Given the description of an element on the screen output the (x, y) to click on. 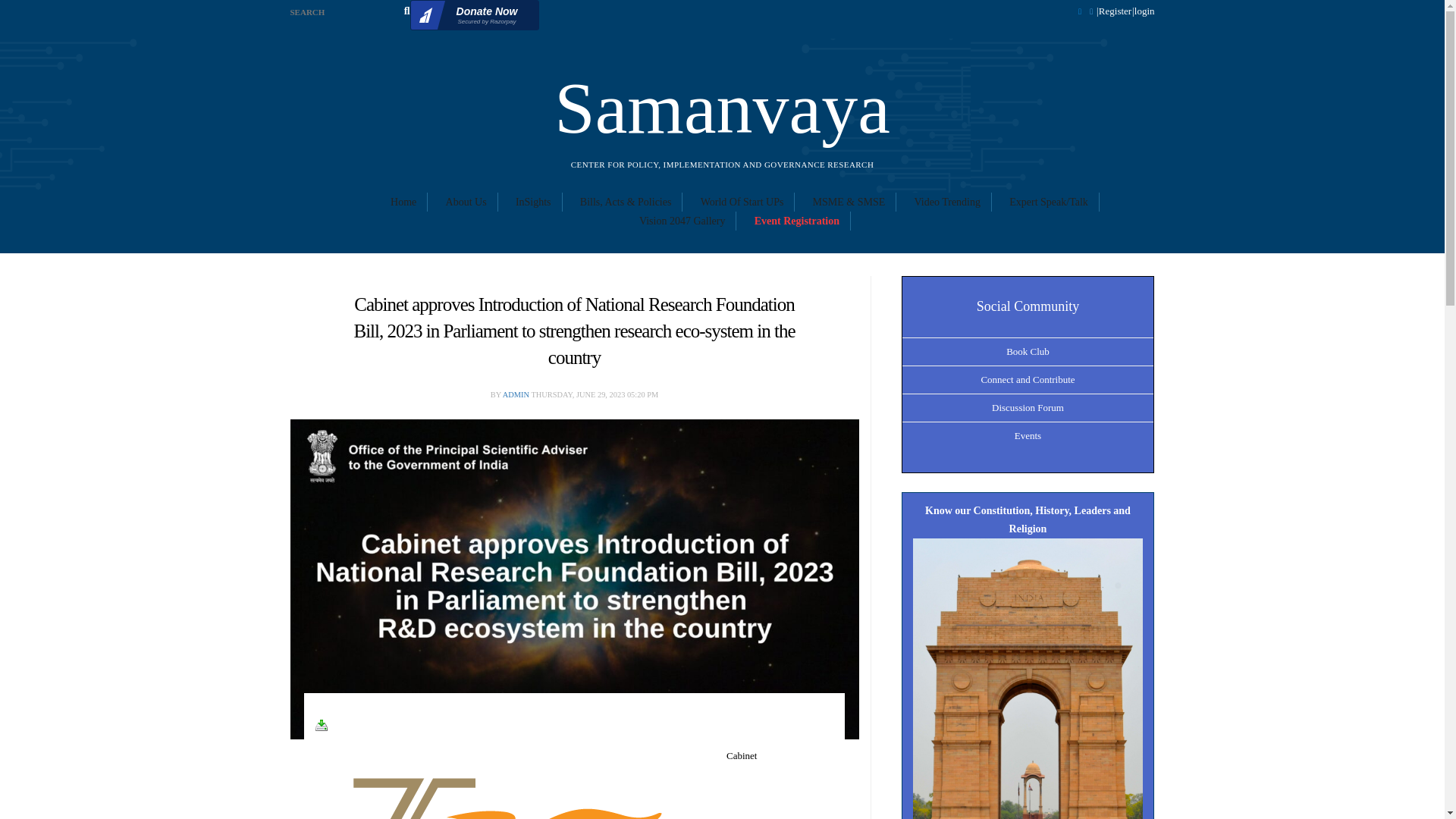
Know our Constitution (475, 15)
Samanvaya (1027, 695)
Posts by admin (721, 107)
Home (515, 394)
Register (403, 202)
About Us (1115, 10)
login (465, 202)
InSights (1144, 10)
Center for Policy, Implementation and Governance Research (533, 202)
